Given the description of an element on the screen output the (x, y) to click on. 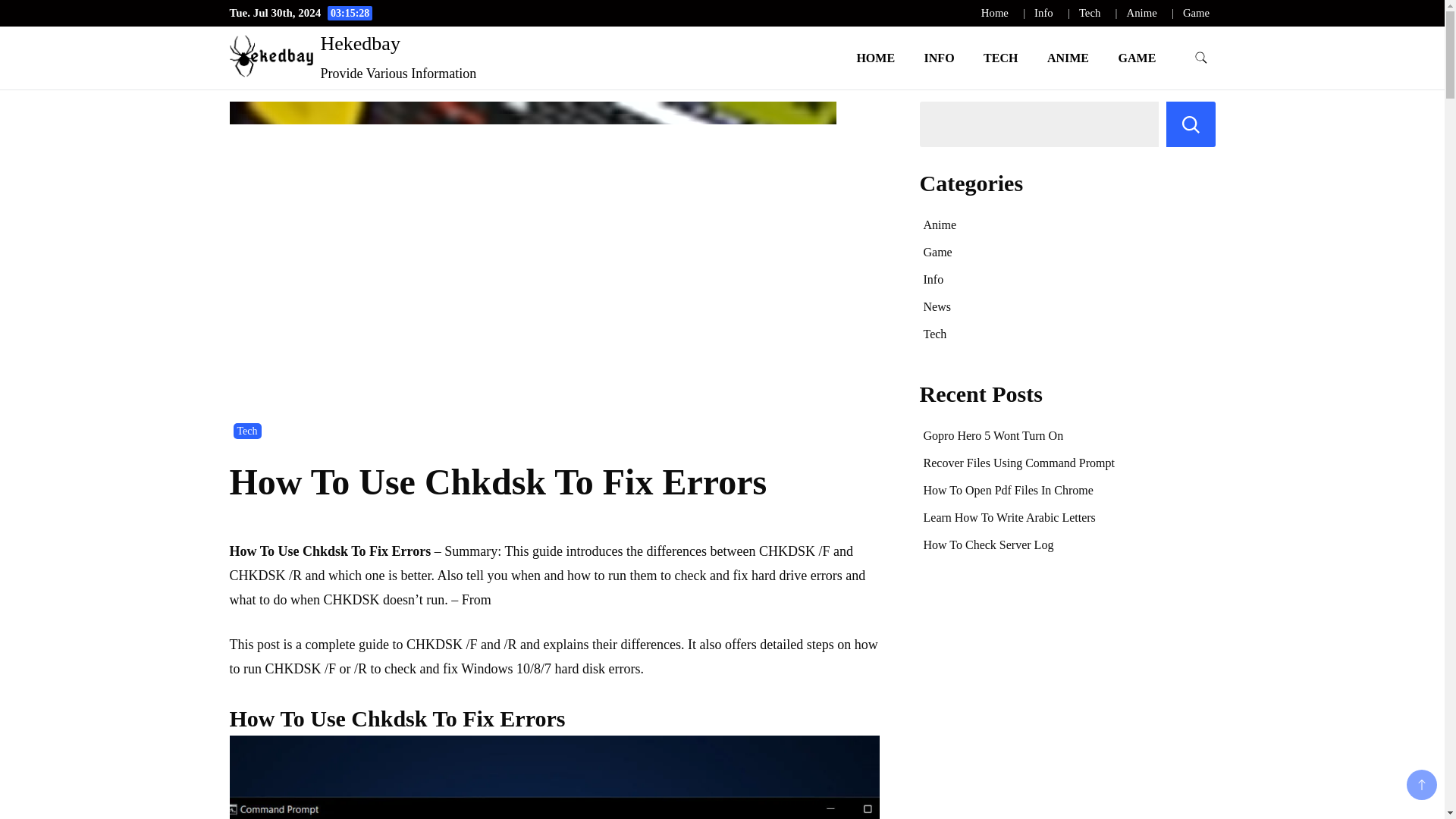
GAME (1137, 57)
Anime (939, 224)
ANIME (1067, 57)
Tech (1089, 12)
Tech (247, 430)
Home (995, 12)
Search (1190, 124)
INFO (939, 57)
Game (1195, 12)
How To Use Chkdsk To Fix Errors (553, 777)
Hekedbay (359, 43)
Info (1042, 12)
TECH (1000, 57)
HOME (875, 57)
Anime (1141, 12)
